Given the description of an element on the screen output the (x, y) to click on. 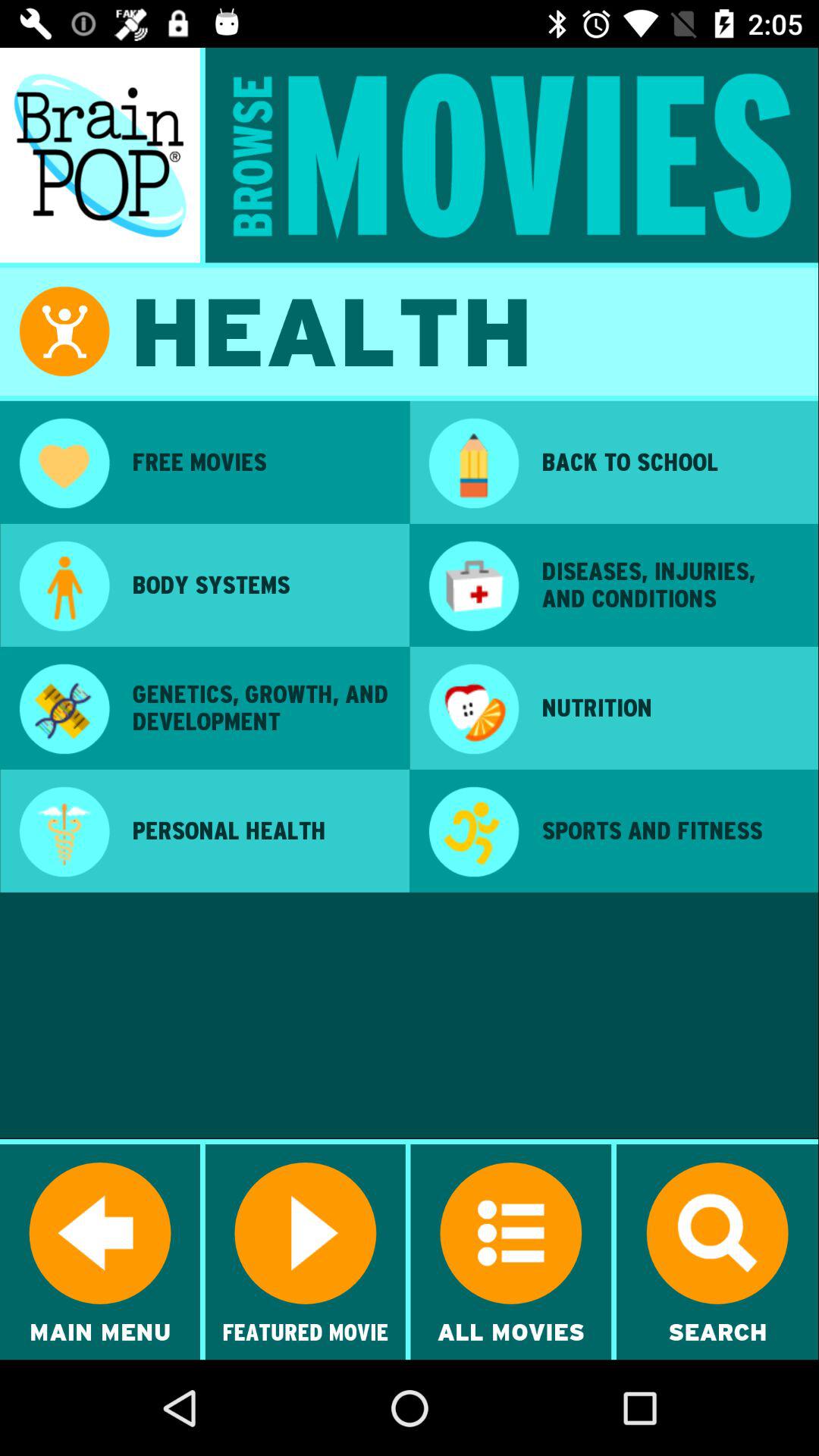
choose the icon next to back to school icon (473, 464)
